Given the description of an element on the screen output the (x, y) to click on. 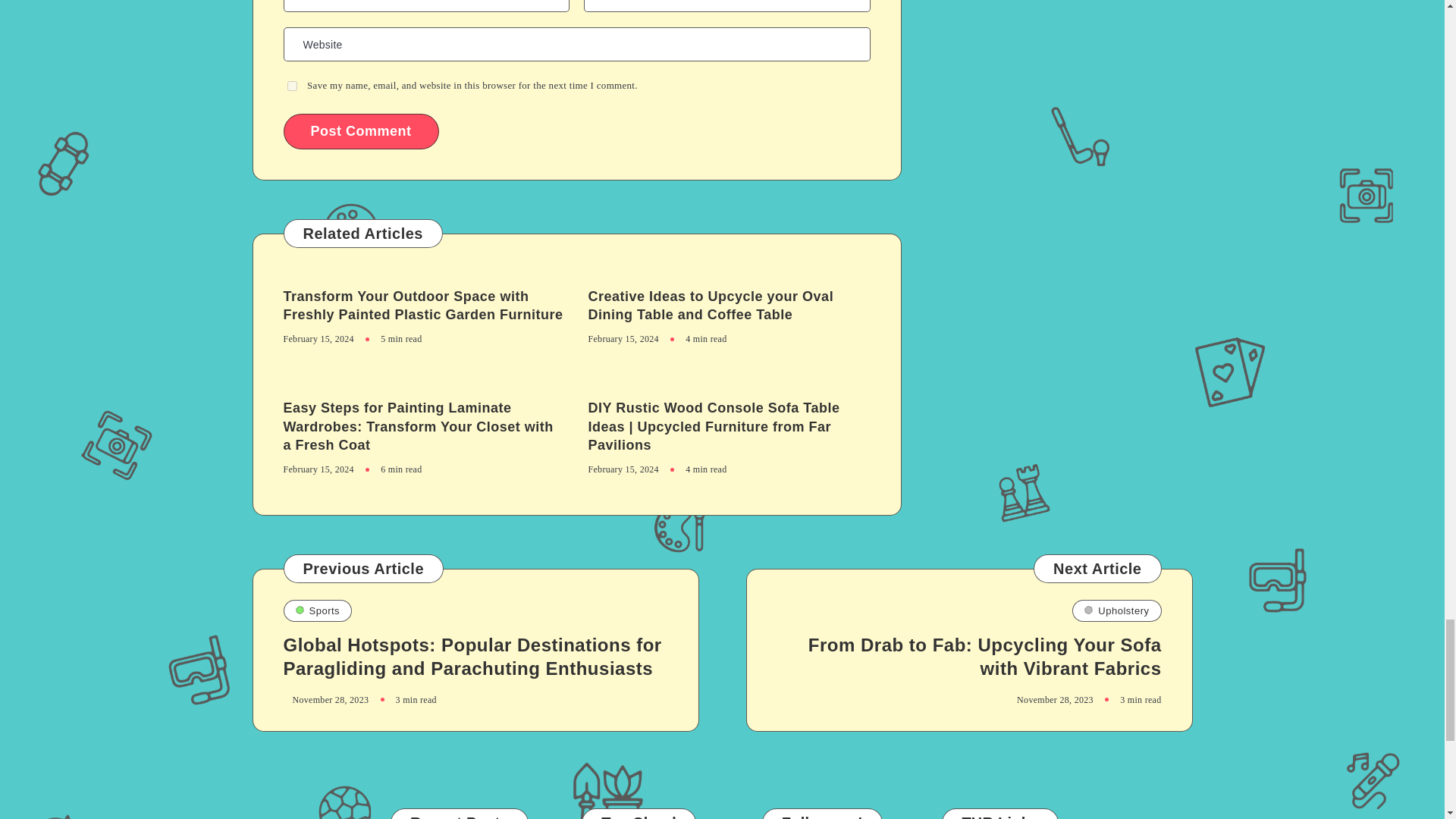
yes (291, 85)
Post Comment (361, 131)
